Given the description of an element on the screen output the (x, y) to click on. 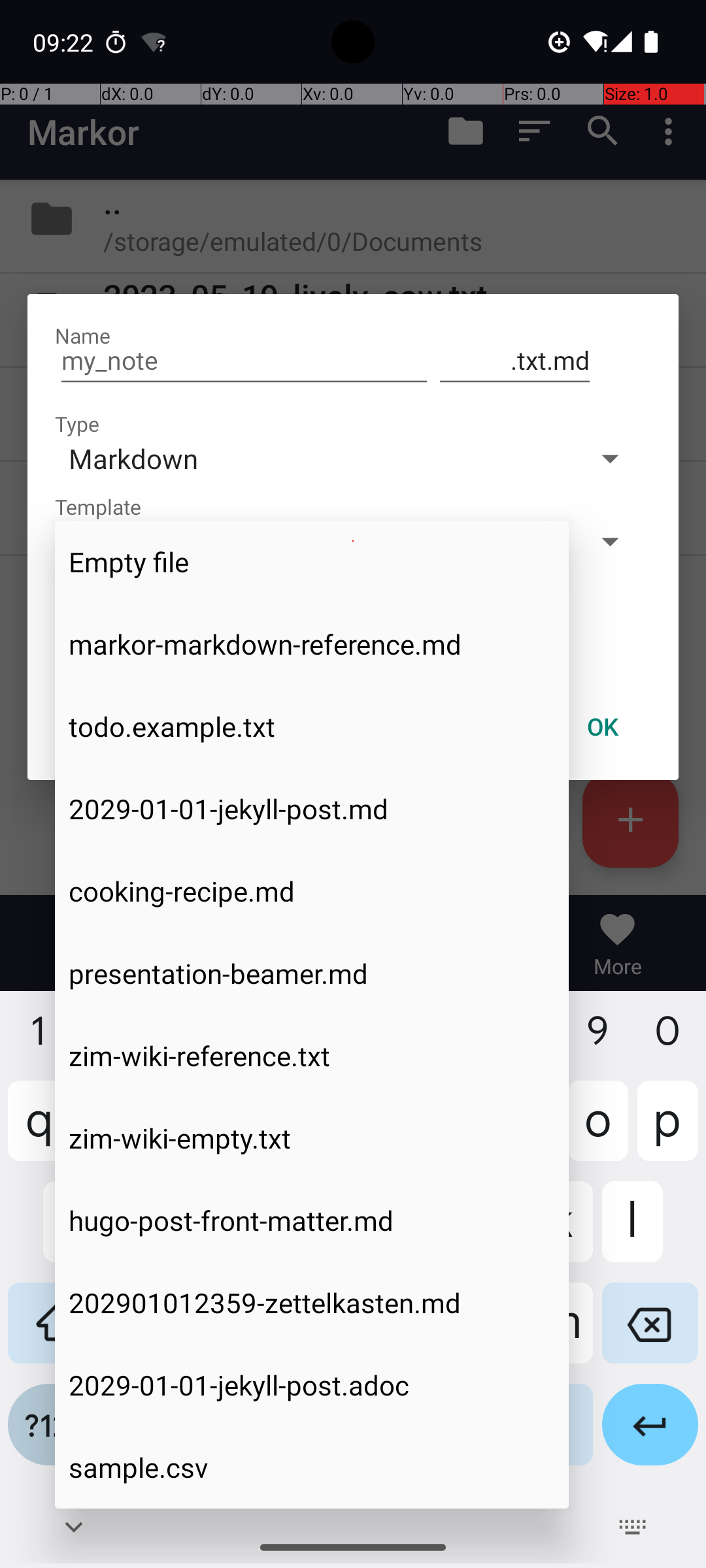
todo.example.txt Element type: android.widget.CheckedTextView (311, 726)
09:22 Element type: android.widget.TextView (64, 41)
